Given the description of an element on the screen output the (x, y) to click on. 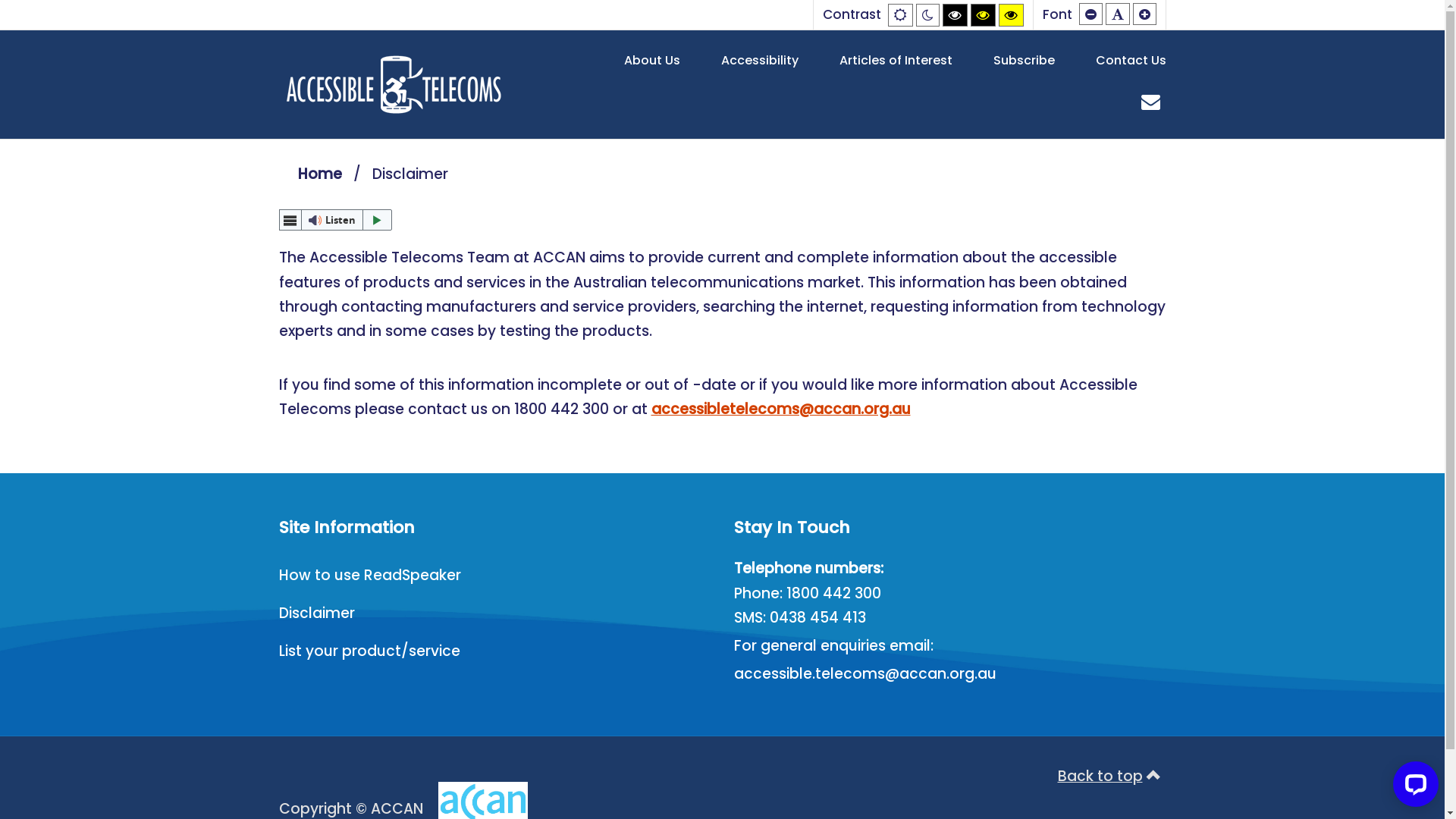
Night mode Element type: text (927, 14)
accessible.telecoms@accan.org.au Element type: text (865, 673)
Home Element type: text (319, 173)
Subscribe Element type: text (1023, 60)
About Us Element type: text (651, 60)
accessibletelecoms@accan.org.au Element type: text (780, 408)
High contrast black/white mode. Element type: text (953, 14)
Smaller font Element type: text (1089, 14)
High contrast yellow/black mode. Element type: text (1009, 14)
How to use ReadSpeaker Element type: text (370, 574)
Contact Us Element type: text (1130, 60)
Default font Element type: text (1117, 14)
List your product/service Element type: text (369, 650)
Email Element type: hover (1150, 102)
Back to top Element type: text (1111, 775)
Accessibility Element type: text (758, 60)
Articles of Interest Element type: text (894, 60)
Default mode Element type: text (899, 14)
High contrast black/yellow mode. Element type: text (982, 14)
Listen Element type: text (335, 219)
webReader menu Element type: hover (290, 219)
Disclaimer Element type: text (316, 612)
Larger font Element type: text (1144, 14)
